Given the description of an element on the screen output the (x, y) to click on. 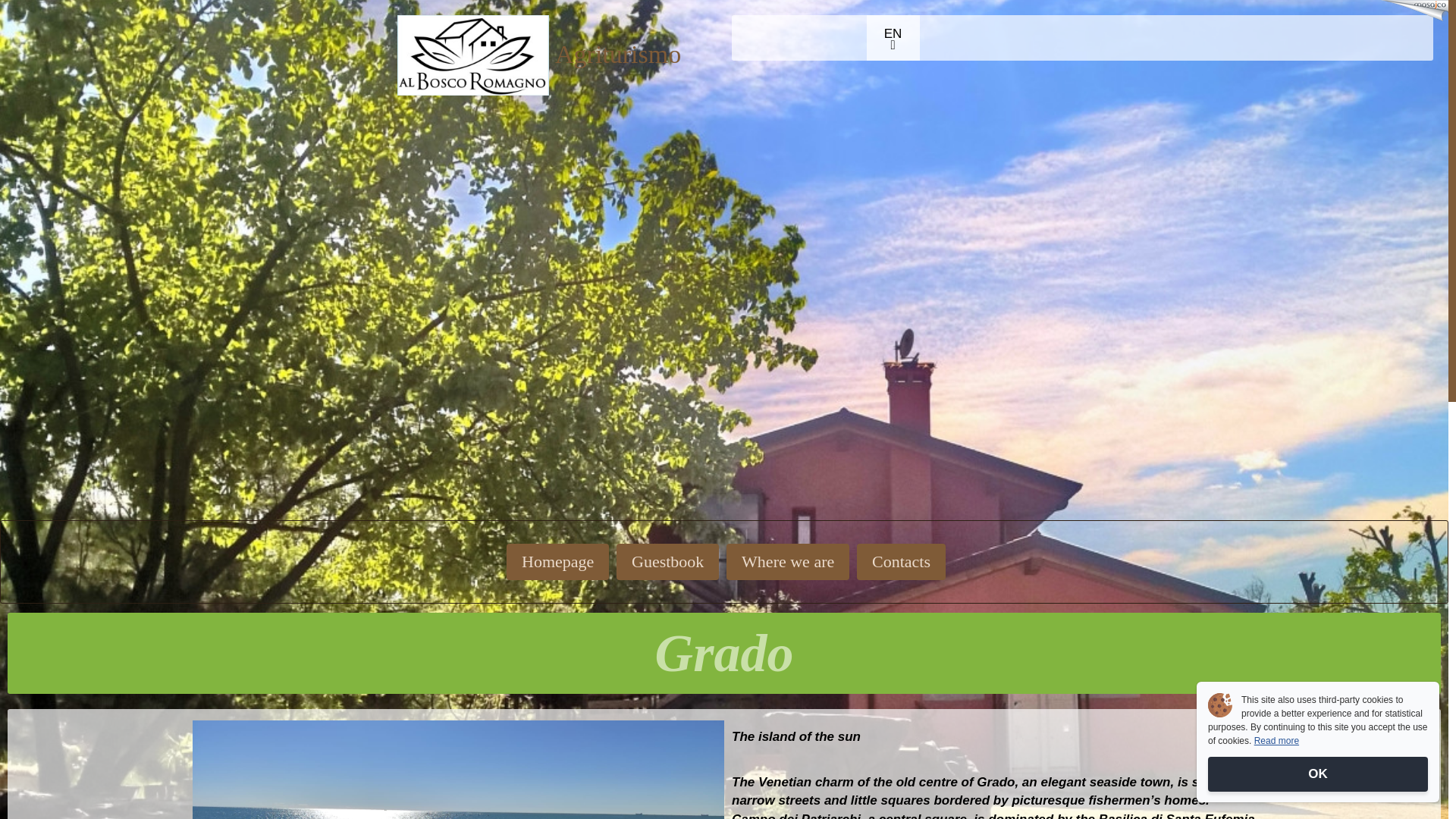
Homepage (557, 561)
Homepage (557, 561)
Read more (1275, 740)
Contacts (900, 561)
Where we are (787, 561)
Guestbook (667, 561)
Homepage (472, 55)
Contacts (900, 561)
Guestbook (667, 561)
Where we are (787, 561)
